Given the description of an element on the screen output the (x, y) to click on. 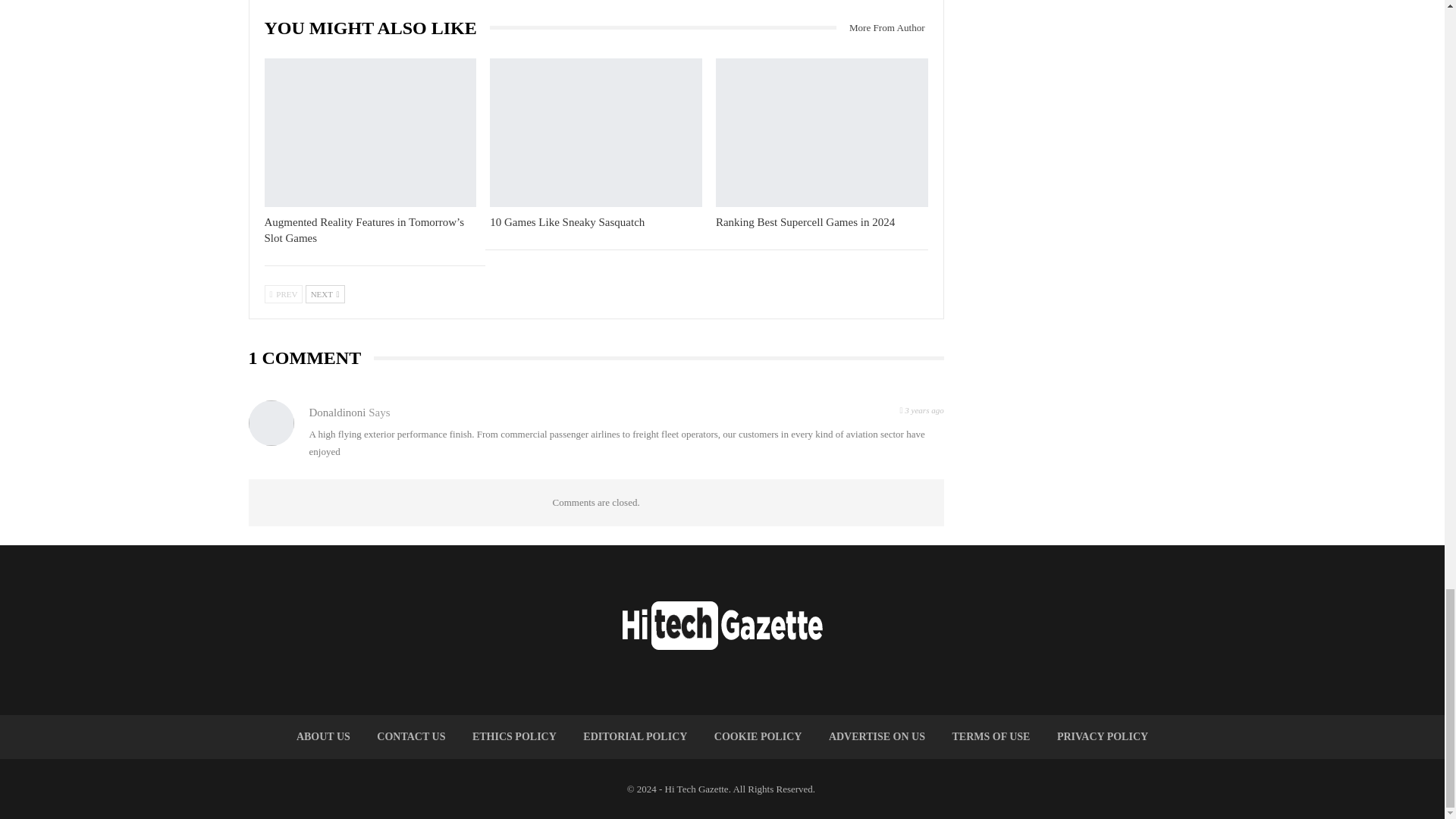
Ranking Best Supercell Games in 2024 (805, 222)
10 Games Like Sneaky Sasquatch (595, 132)
10 Games Like Sneaky Sasquatch (567, 222)
Previous (282, 294)
Ranking Best Supercell Games in 2024 (822, 132)
